Given the description of an element on the screen output the (x, y) to click on. 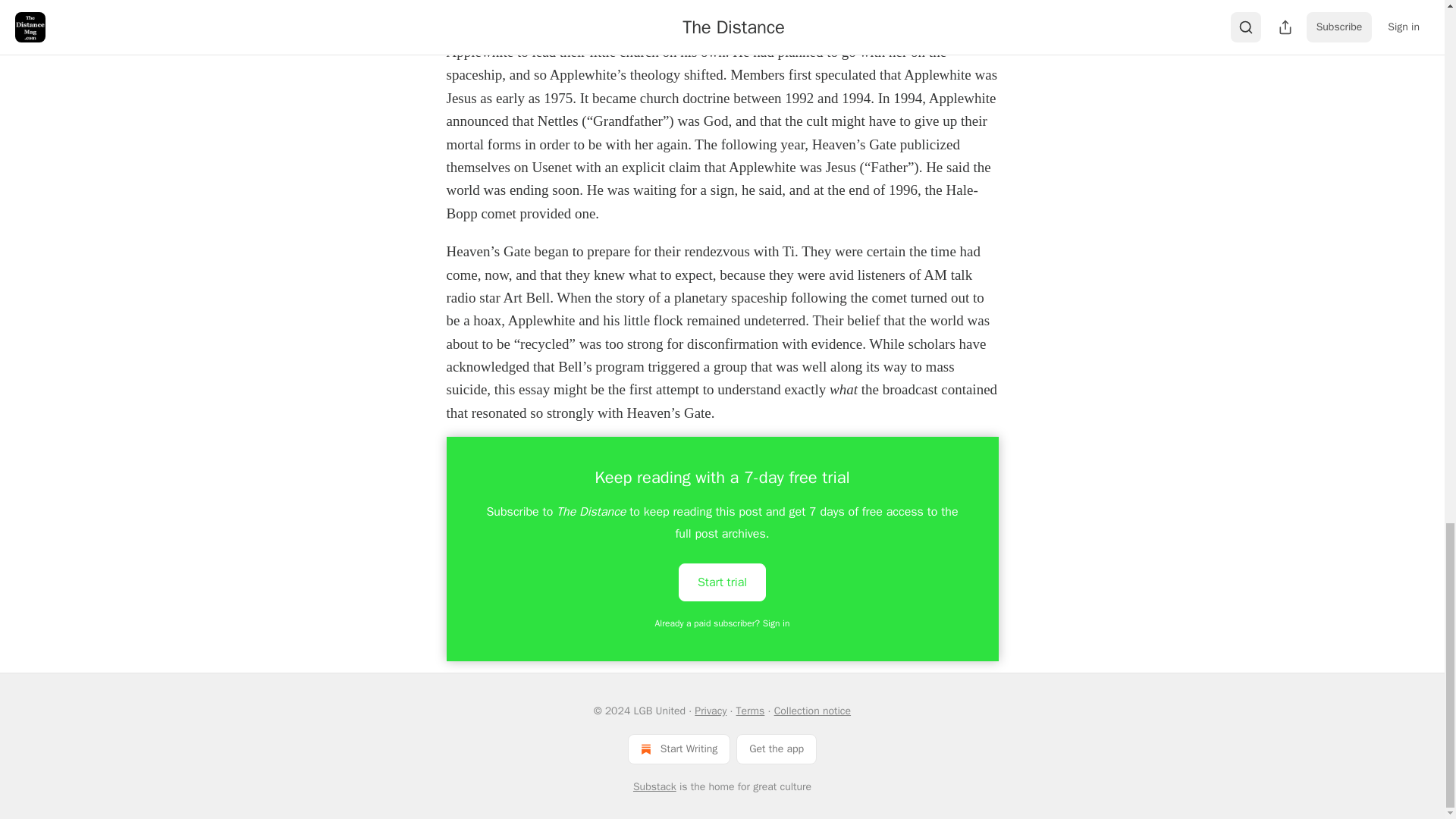
Privacy (710, 710)
Substack (655, 786)
Terms (750, 710)
Start Writing (678, 748)
Start trial (721, 581)
Start trial (721, 582)
Get the app (776, 748)
Already a paid subscriber? Sign in (722, 623)
Collection notice (812, 710)
